Given the description of an element on the screen output the (x, y) to click on. 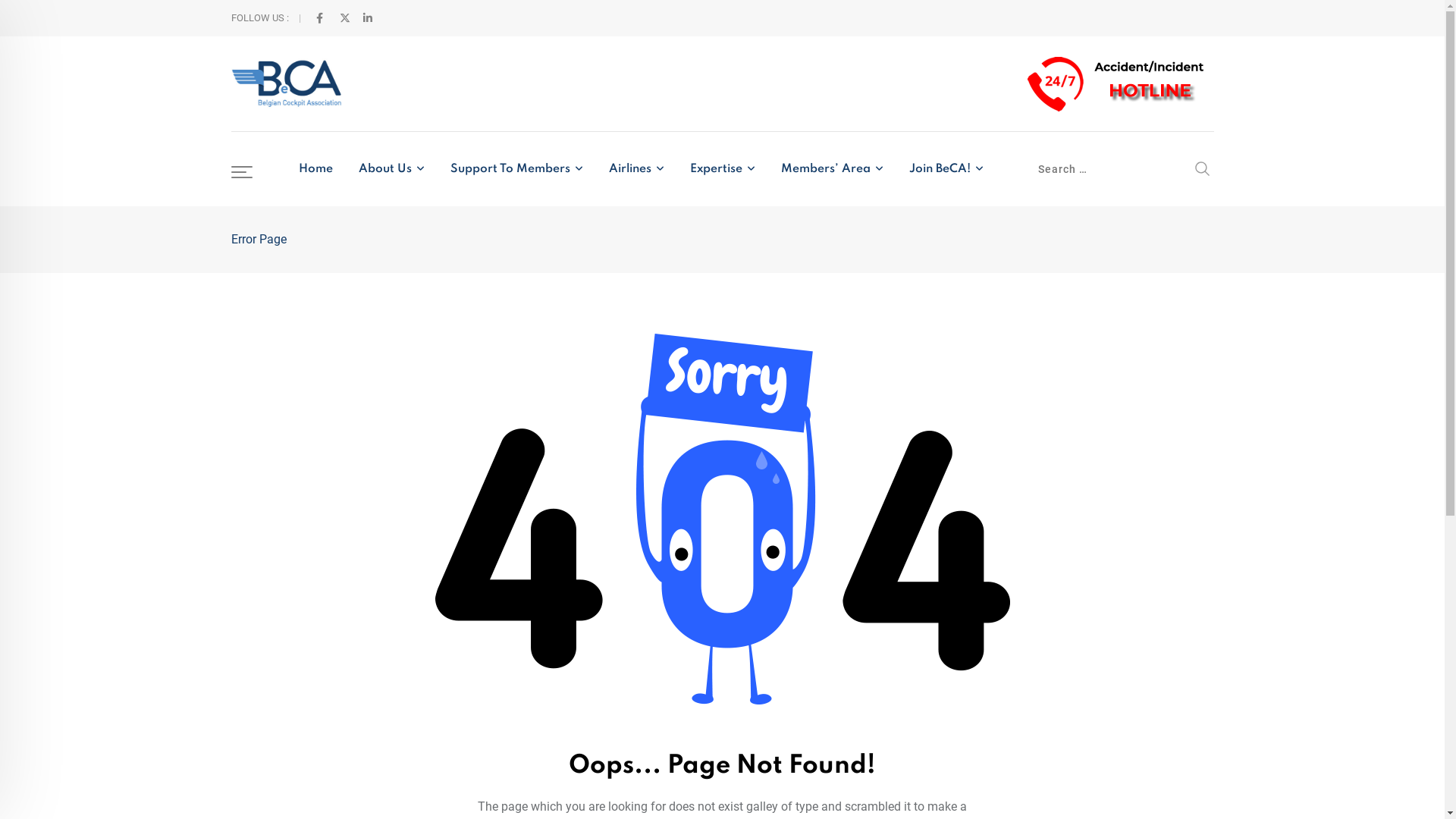
Expertise Element type: text (722, 168)
Join BeCA! Element type: text (945, 168)
Home Element type: text (315, 168)
Airlines Element type: text (636, 168)
About Us Element type: text (391, 168)
Support To Members Element type: text (516, 168)
